Given the description of an element on the screen output the (x, y) to click on. 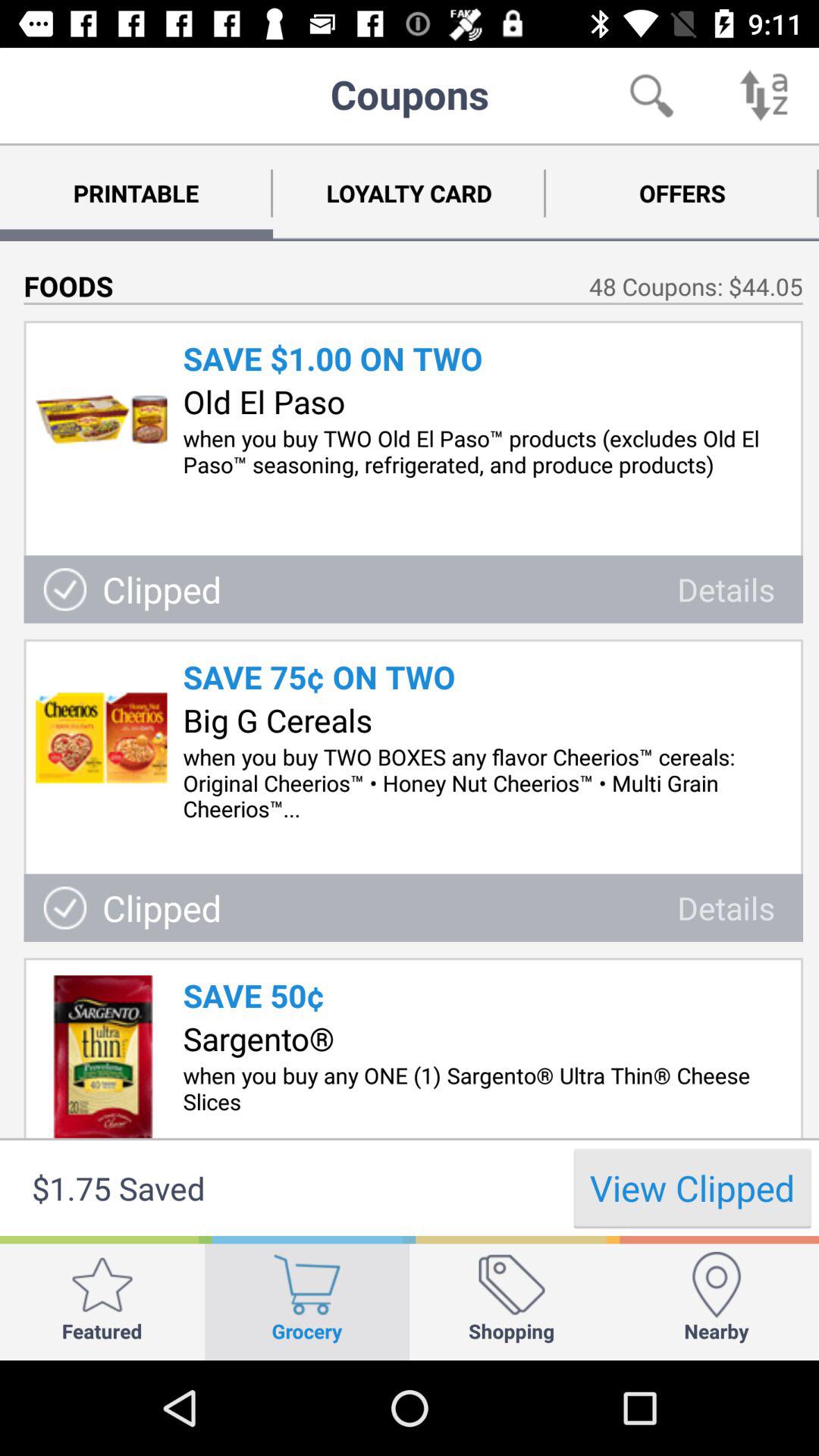
click icon to the right of $1.75 saved item (692, 1187)
